Given the description of an element on the screen output the (x, y) to click on. 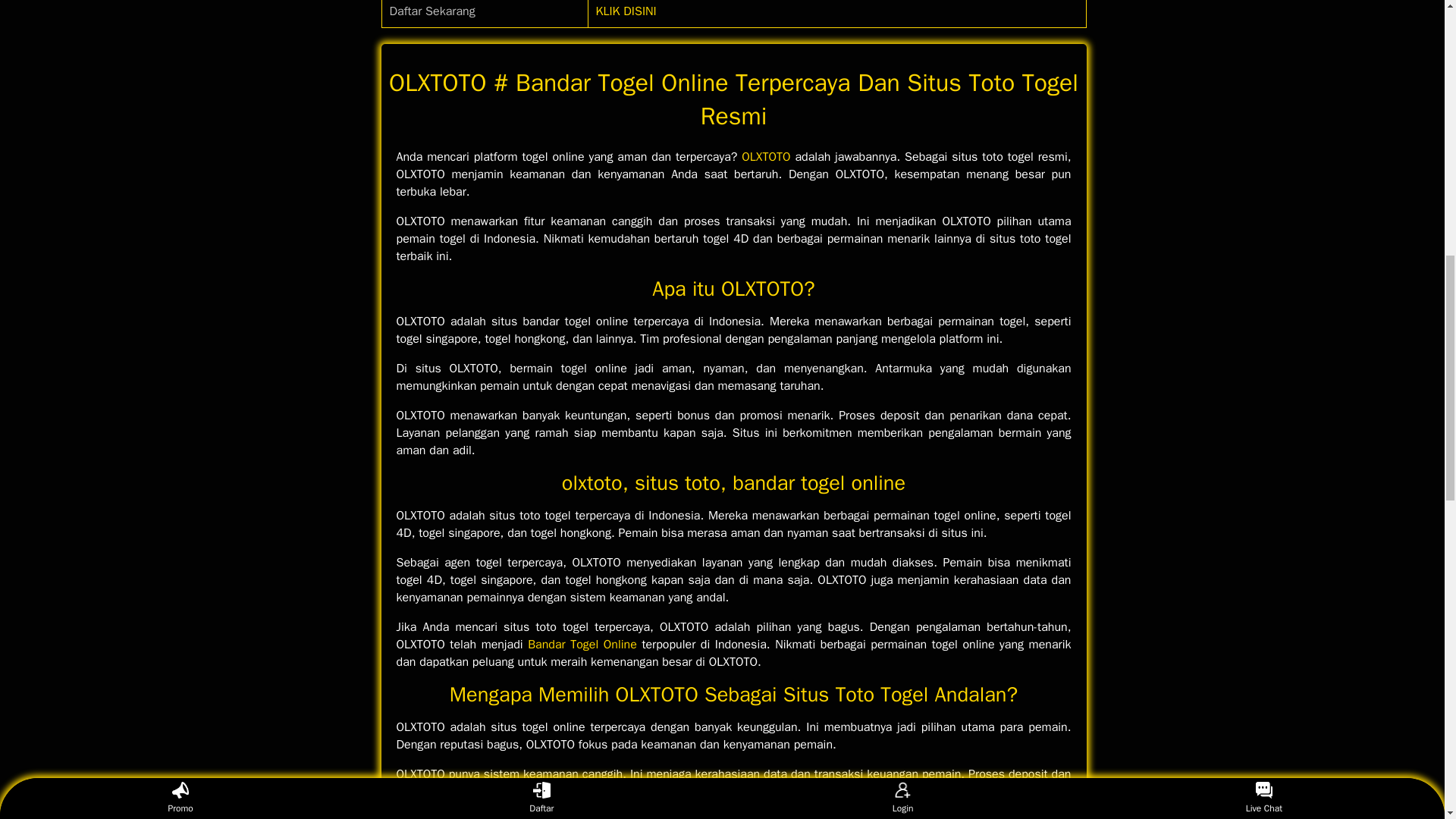
OLXTOTO (765, 156)
Bandar Togel Online (582, 644)
Bandar Togel Online (582, 644)
KLIK DISINI (625, 11)
OLXTOTO (765, 156)
